Given the description of an element on the screen output the (x, y) to click on. 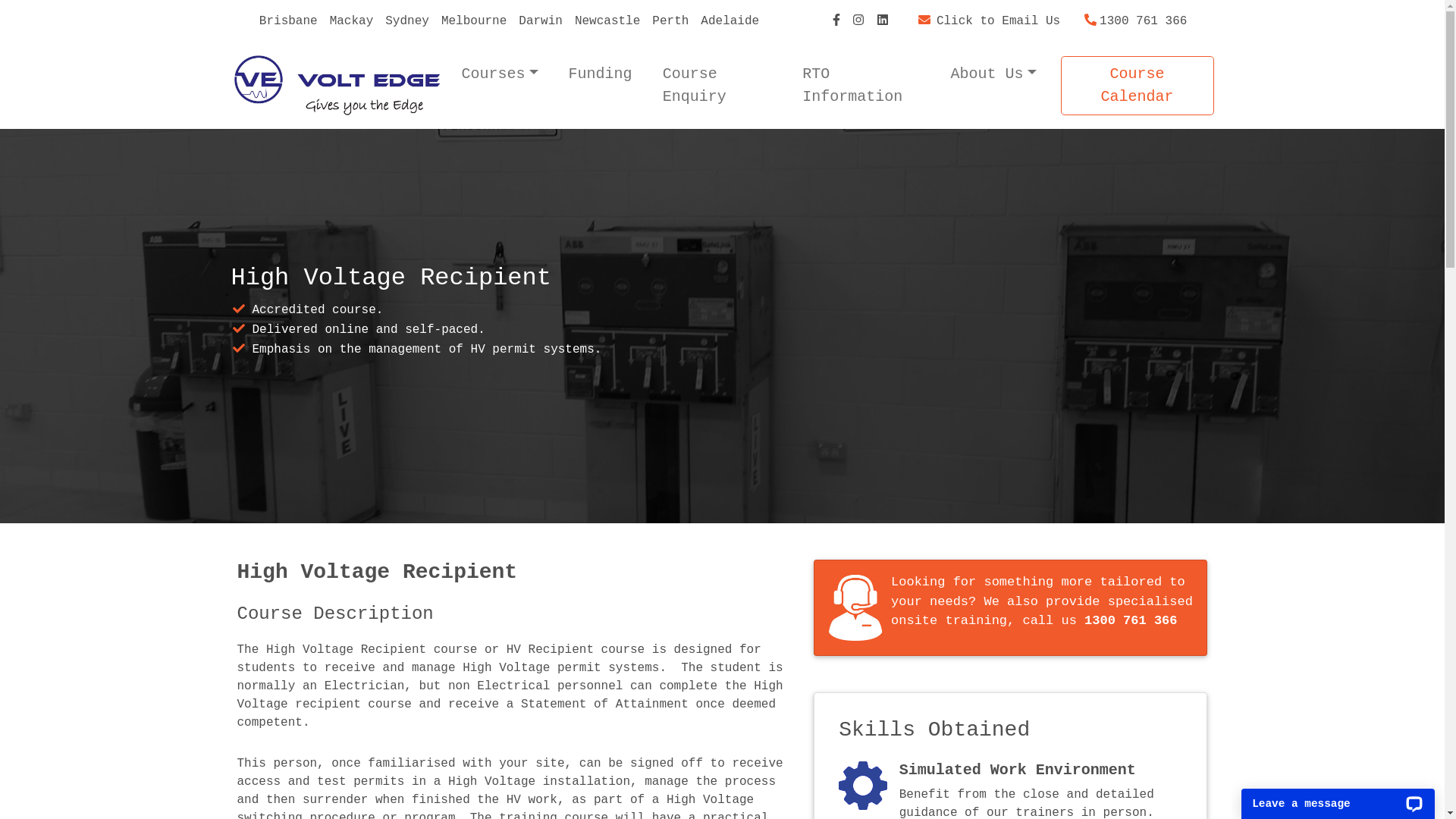
Brisbane Element type: text (288, 21)
Sydney Element type: text (407, 21)
Click to Email Us Element type: text (989, 21)
Newcastle Element type: text (607, 21)
RTO Information Element type: text (860, 85)
Melbourne Element type: text (473, 21)
Courses Element type: text (499, 73)
Perth Element type: text (670, 21)
Mackay Element type: text (351, 21)
Darwin Element type: text (540, 21)
About Us Element type: text (993, 73)
Course Enquiry Element type: text (717, 85)
Adelaide Element type: text (729, 21)
Funding Element type: text (600, 73)
Course Calendar Element type: text (1137, 85)
1300 761 366 Element type: text (1135, 21)
